Given the description of an element on the screen output the (x, y) to click on. 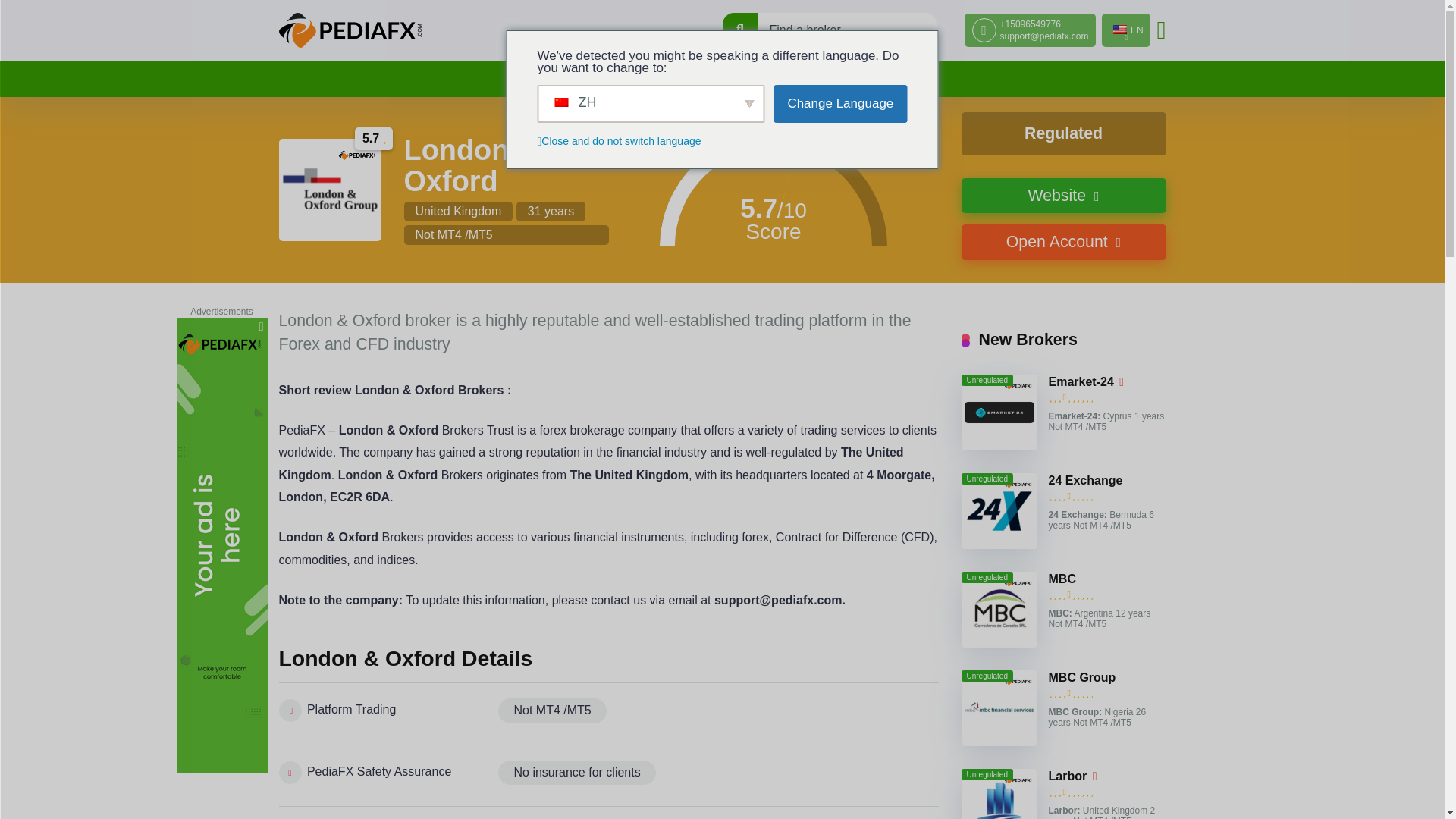
No insurance for clients (576, 772)
No insurance for clients (576, 772)
Hot News (681, 78)
24 Exchange (1085, 480)
MBC Group (1081, 677)
Rangking (605, 78)
EN (1126, 29)
PediaFX - Global online broker review service (350, 30)
Contact us (891, 78)
MBC (1061, 579)
Emarket-24 (1080, 382)
Home (540, 78)
Website (1063, 195)
Economic Calendar (785, 78)
Open Account (1063, 242)
